Given the description of an element on the screen output the (x, y) to click on. 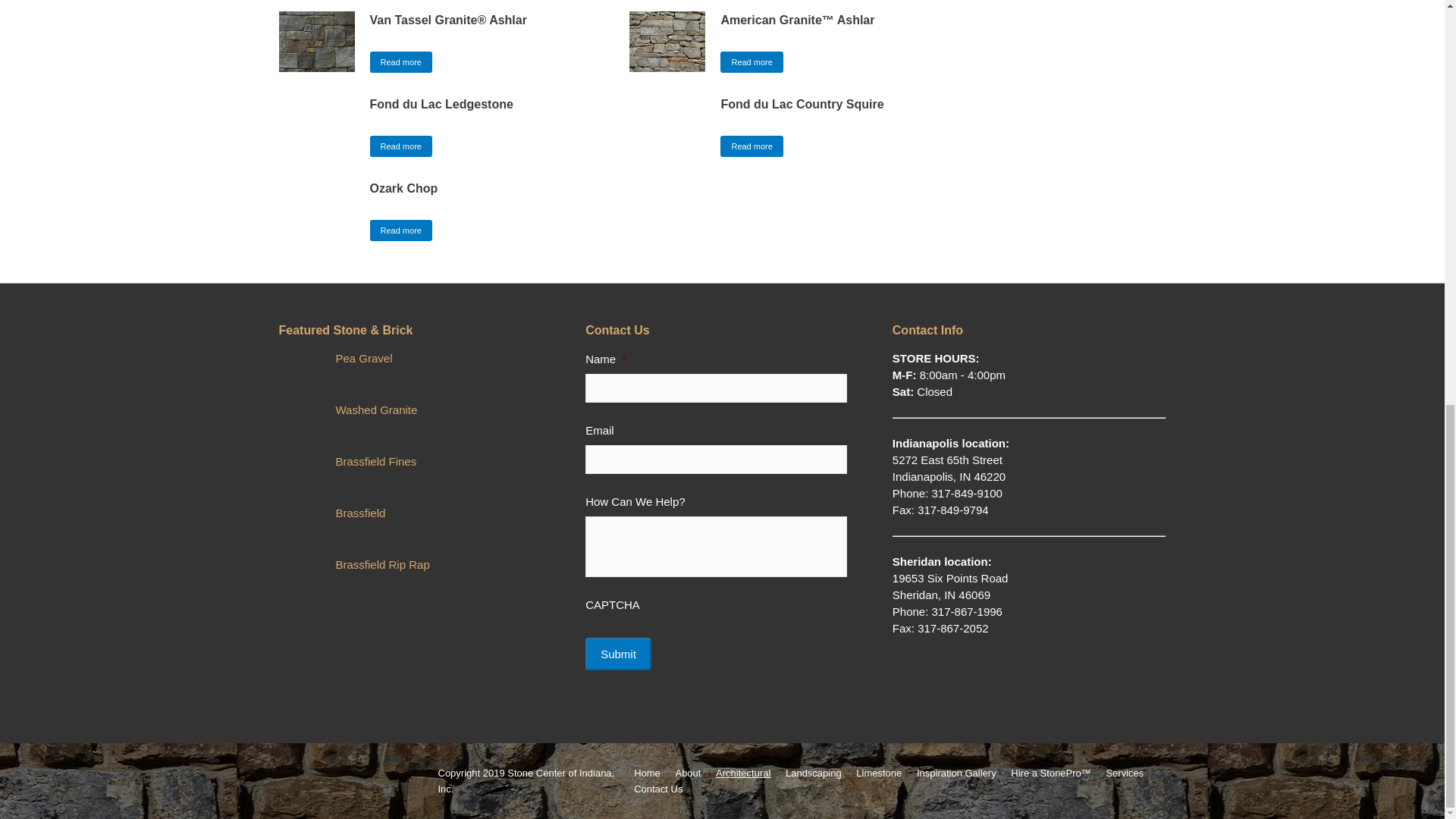
Submit (617, 654)
